Given the description of an element on the screen output the (x, y) to click on. 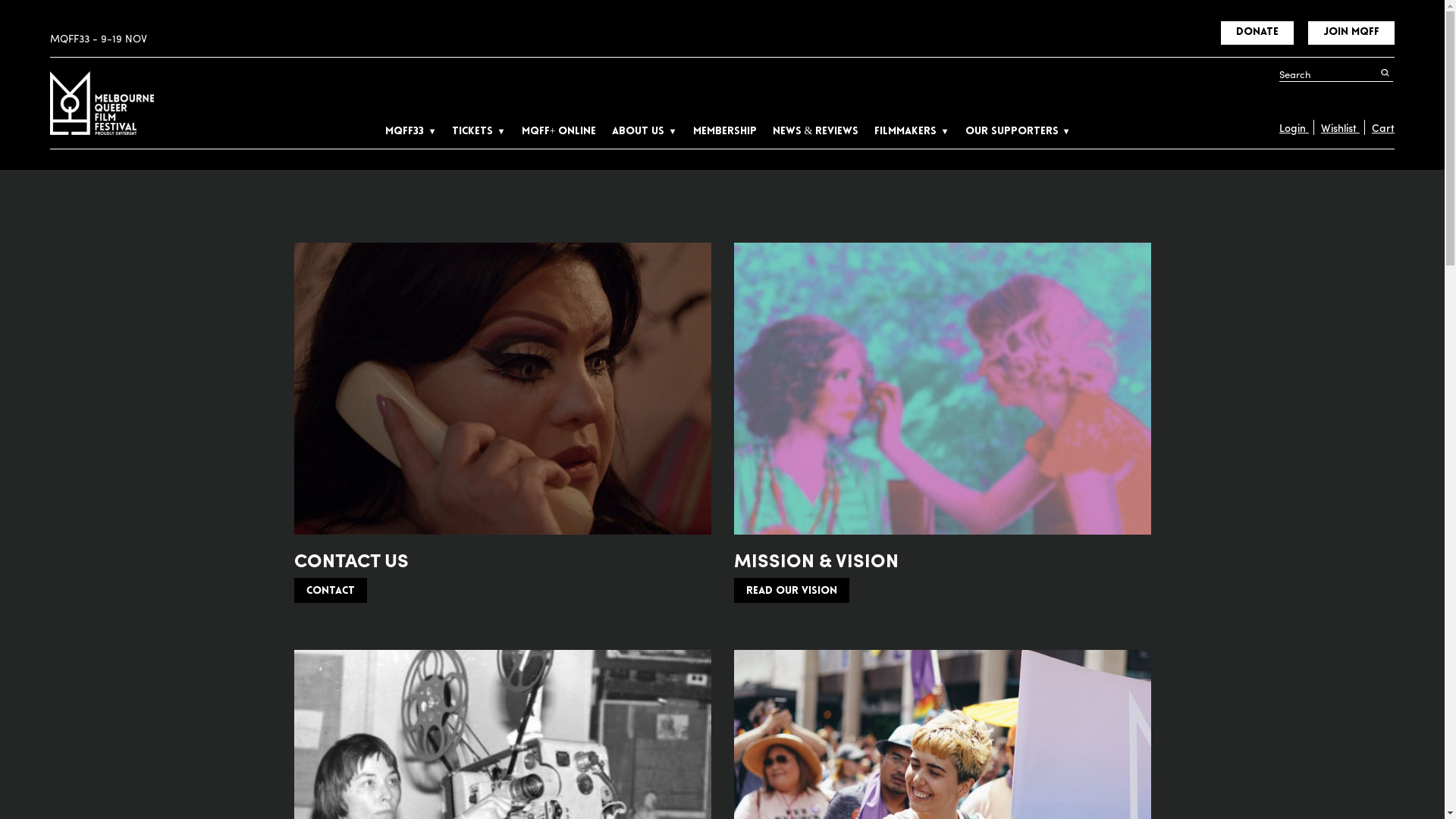
MEMBERSHIP Element type: text (724, 131)
READ OUR VISION Element type: text (791, 590)
CONTACT Element type: text (330, 590)
Cart Element type: text (1379, 126)
DONATE Element type: text (1256, 32)
Wishlist Element type: text (1336, 126)
Melbourne Queer Film Festival Element type: text (101, 102)
MQFF+ ONLINE Element type: text (558, 131)
ABOUT US Element type: text (643, 131)
JOIN MQFF Element type: text (1351, 32)
TICKETS Element type: text (478, 131)
NEWS & REVIEWS Element type: text (815, 131)
FILMMAKERS Element type: text (911, 131)
MQFF33 Element type: text (410, 131)
Login Element type: text (1293, 126)
OUR SUPPORTERS Element type: text (1017, 131)
